Given the description of an element on the screen output the (x, y) to click on. 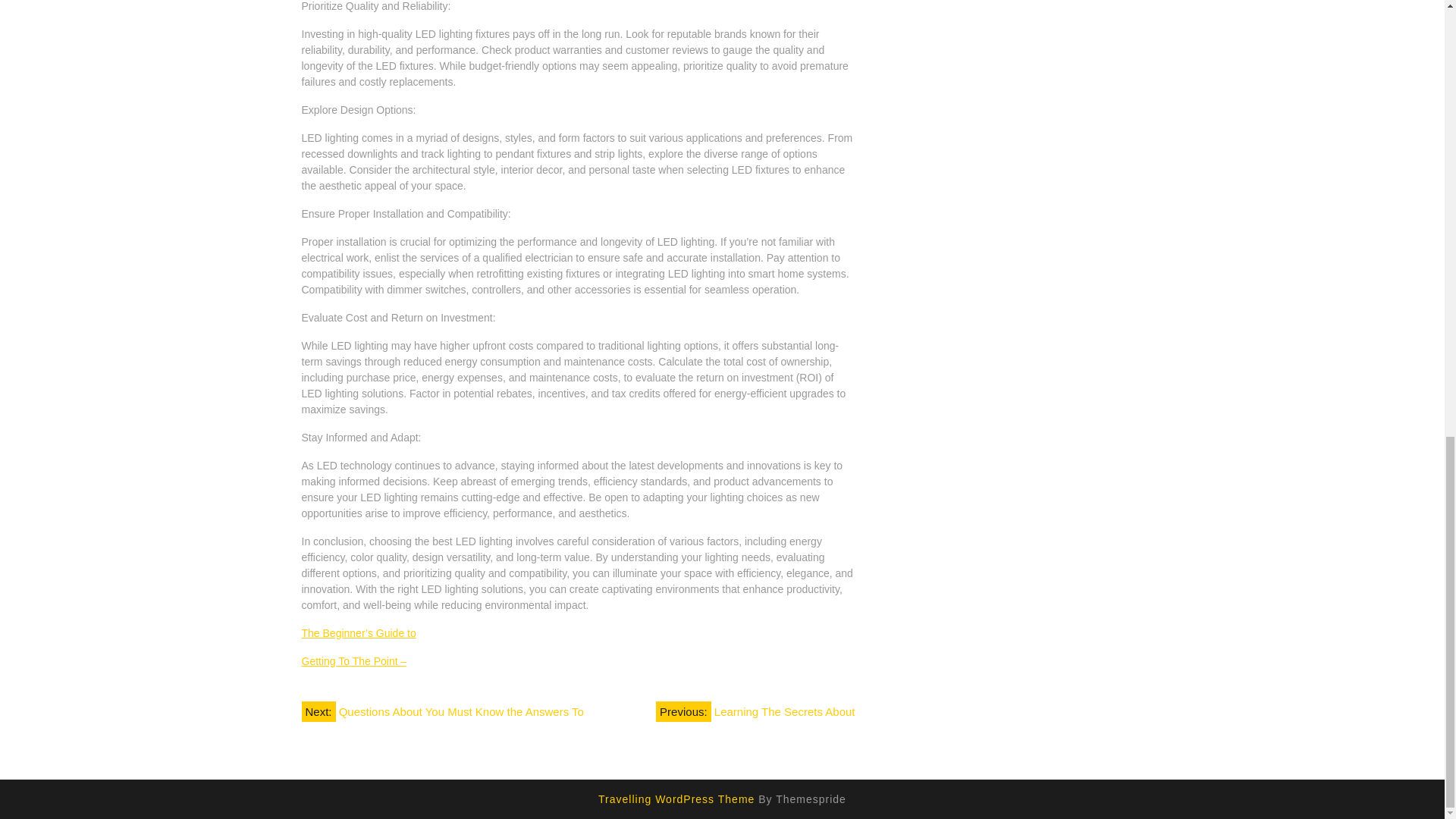
Travelling WordPress Theme (676, 799)
Previous: Learning The Secrets About (755, 711)
Next: Questions About You Must Know the Answers To (442, 711)
